Given the description of an element on the screen output the (x, y) to click on. 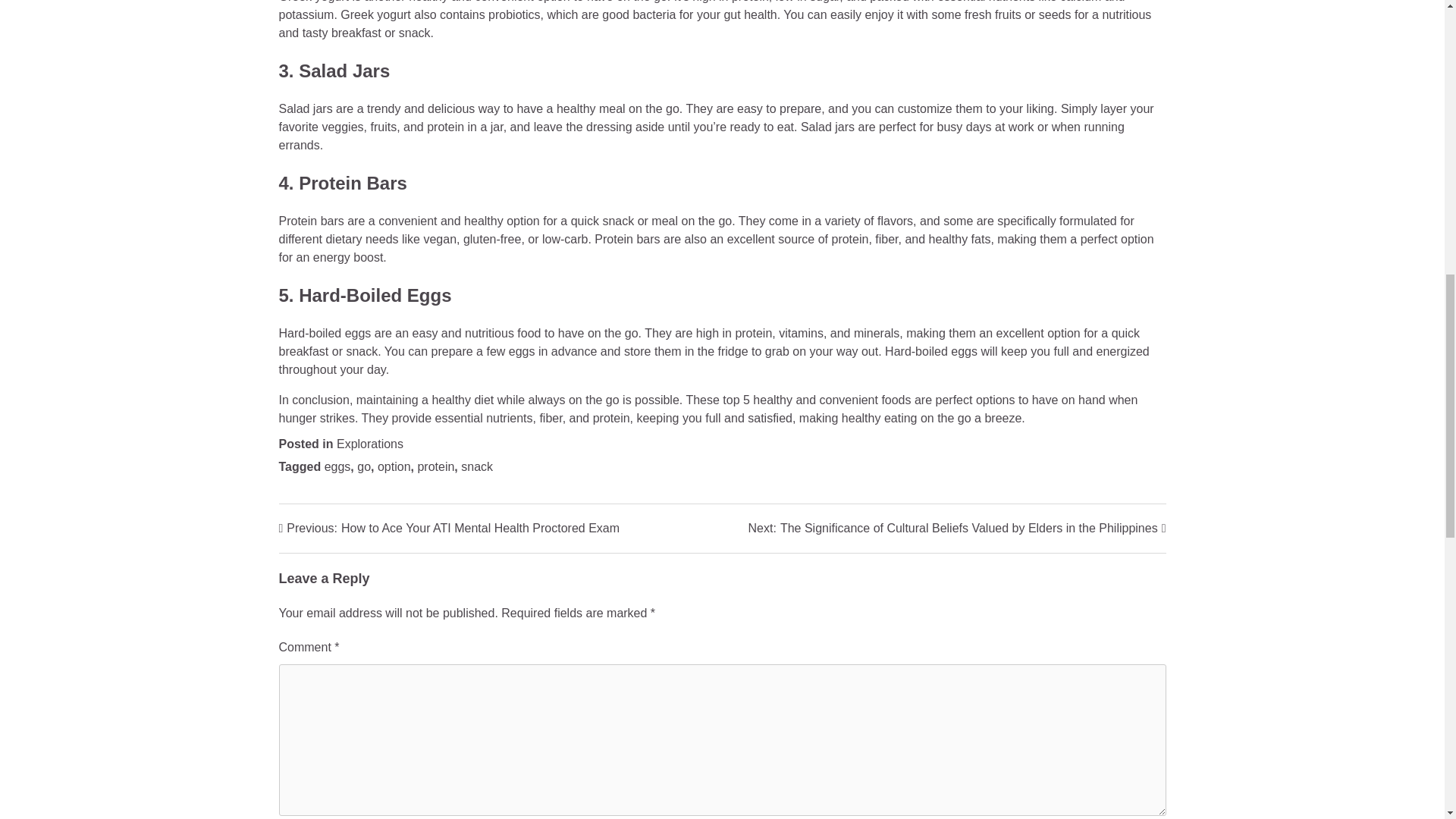
go (363, 466)
option (393, 466)
eggs (337, 466)
protein (435, 466)
Explorations (449, 528)
snack (369, 443)
